Given the description of an element on the screen output the (x, y) to click on. 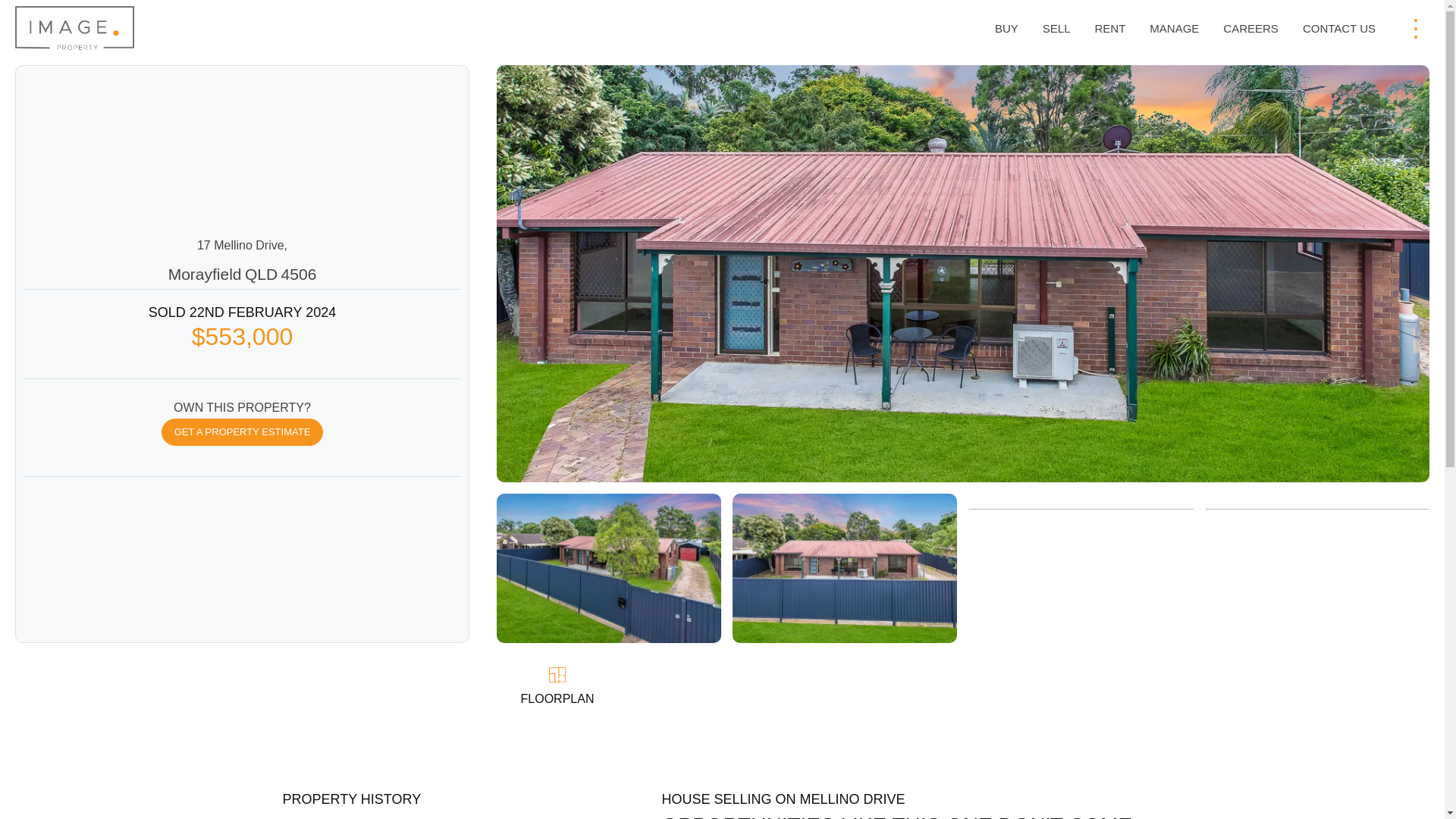
BUY (1006, 29)
Contact Us (1339, 29)
Careers (1250, 29)
MANAGE (1173, 29)
CONTACT US (1339, 29)
Buy (1006, 29)
GET A PROPERTY ESTIMATE (242, 431)
SELL (1056, 29)
Manage (1173, 29)
RENT (1109, 29)
